Given the description of an element on the screen output the (x, y) to click on. 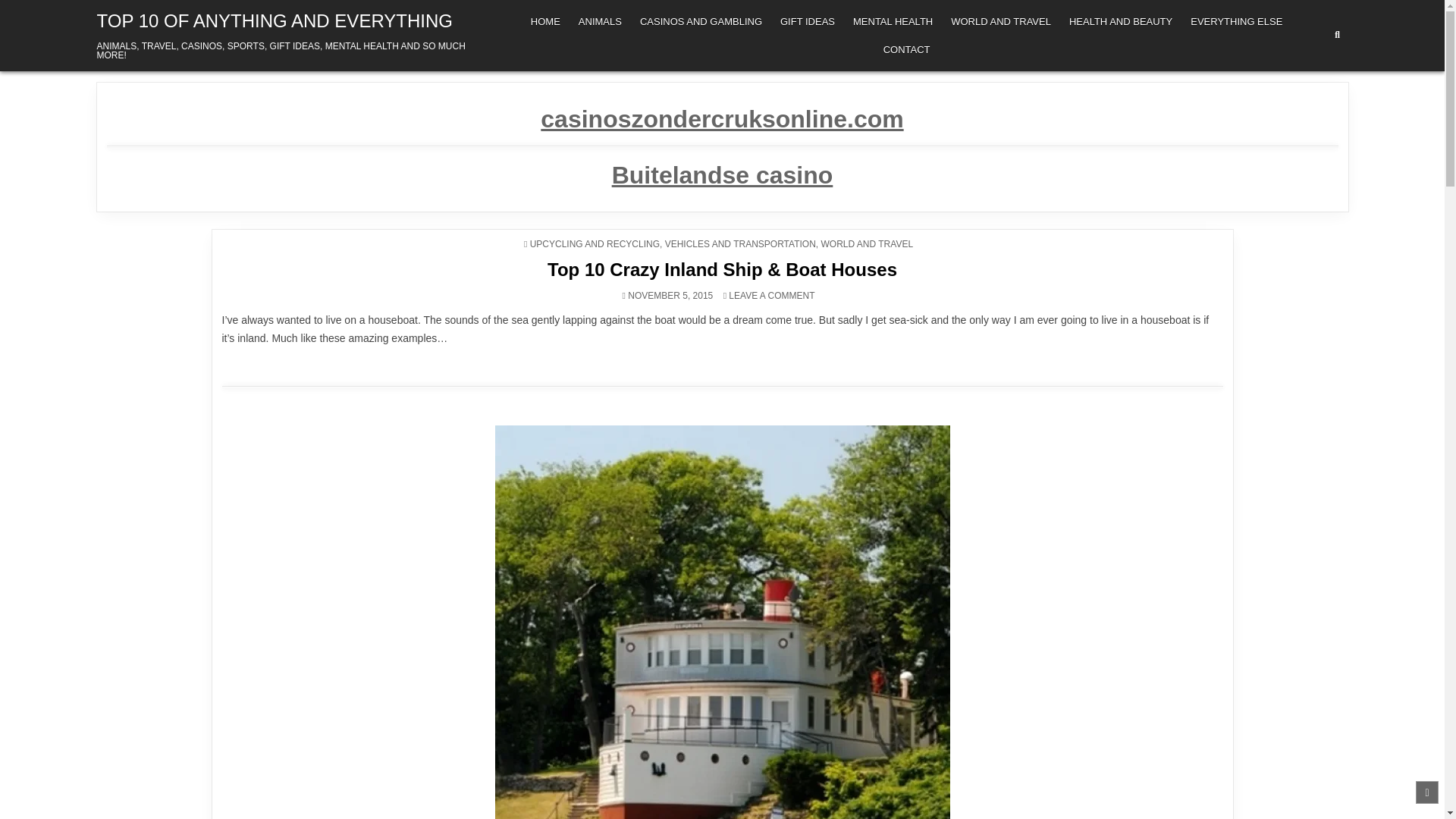
EVERYTHING ELSE (1235, 21)
casinoszondercruksonline.com (721, 118)
VEHICLES AND TRANSPORTATION (740, 244)
CONTACT (907, 49)
HOME (545, 21)
Buitelandse casino (721, 175)
ANIMALS (599, 21)
SCROLL TO TOP (1426, 792)
GIFT IDEAS (807, 21)
UPCYCLING AND RECYCLING (594, 244)
